Given the description of an element on the screen output the (x, y) to click on. 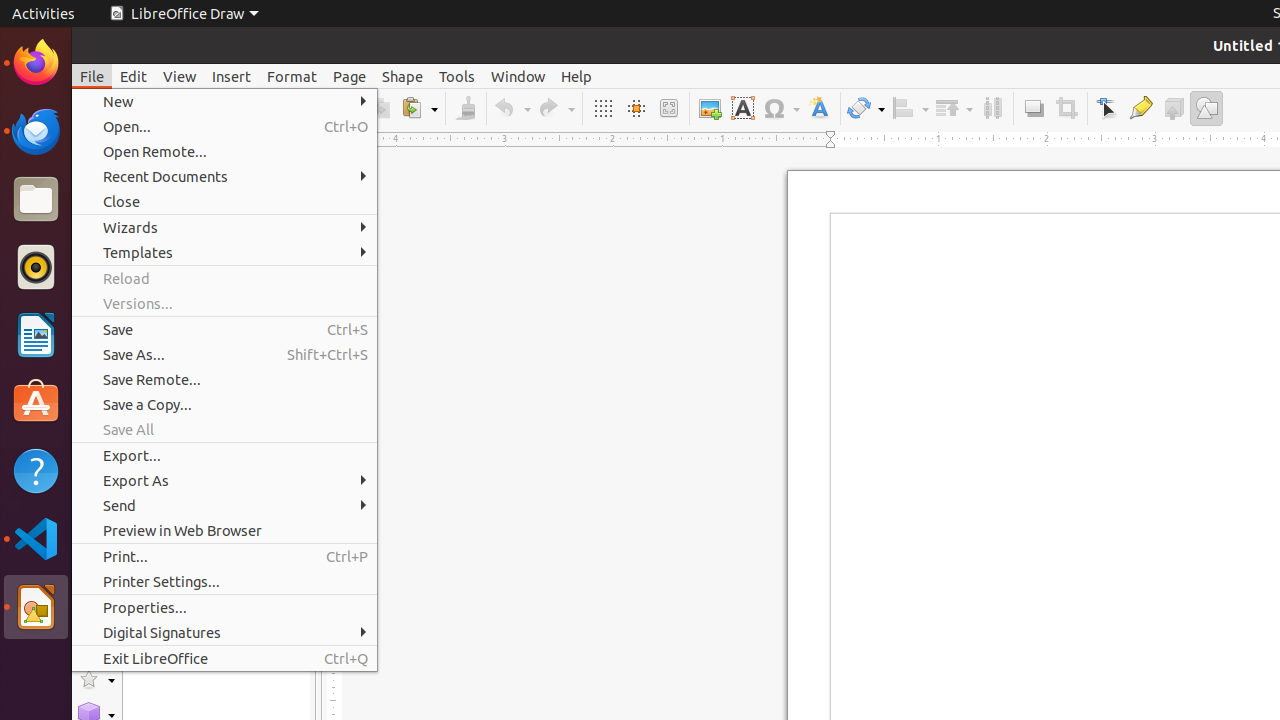
Tools Element type: menu (457, 76)
Arrange Element type: push-button (954, 108)
Properties... Element type: menu-item (224, 607)
Undo Element type: push-button (512, 108)
Save Element type: menu-item (224, 329)
